Given the description of an element on the screen output the (x, y) to click on. 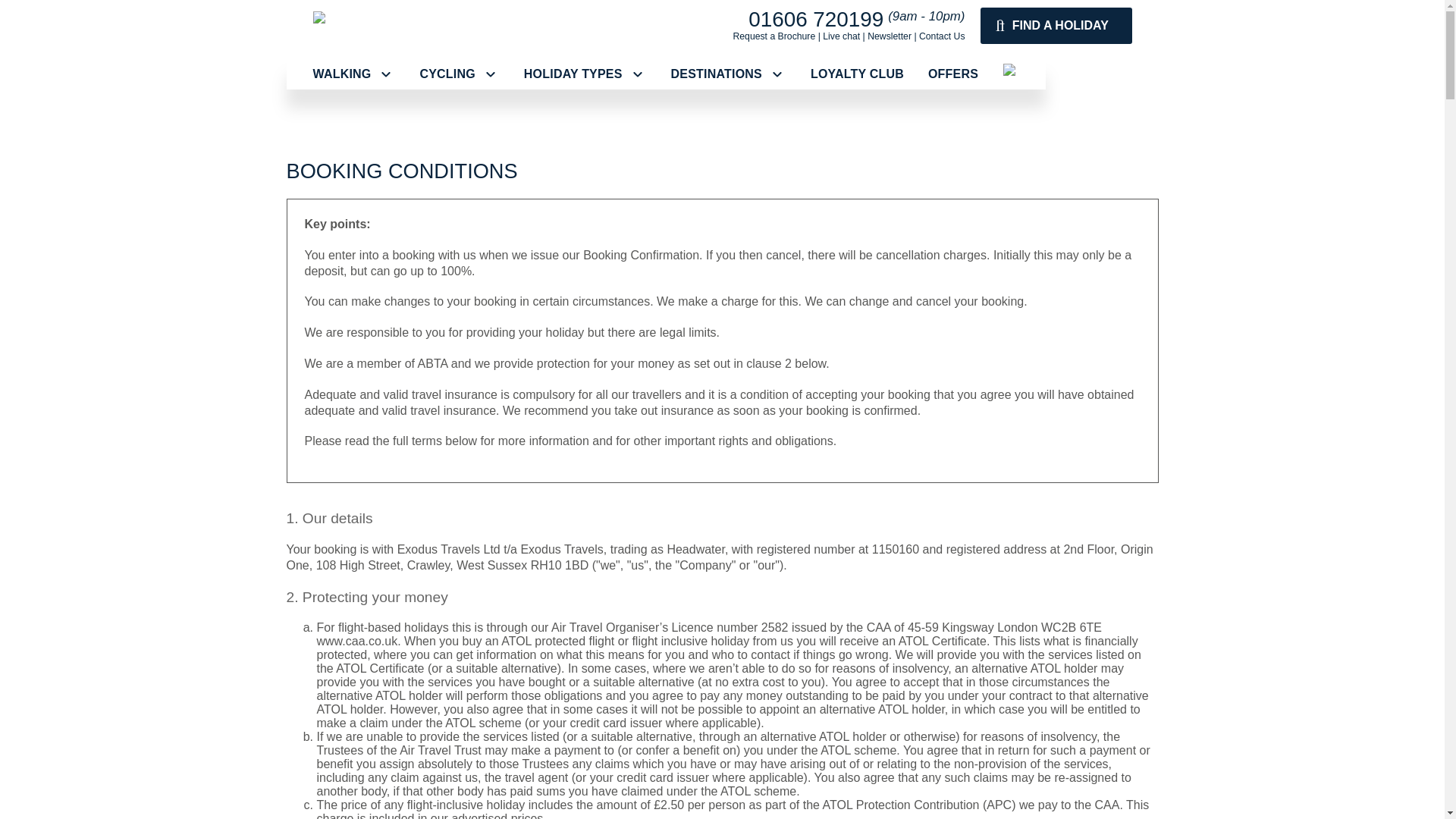
Walking (353, 73)
Set your location (1017, 71)
Request a Brochure (773, 36)
Contact Us (941, 36)
Cycling (459, 73)
Newsletter (889, 36)
WALKING (353, 73)
Holiday Types (585, 73)
Live chat (841, 36)
CYCLING (459, 73)
